Given the description of an element on the screen output the (x, y) to click on. 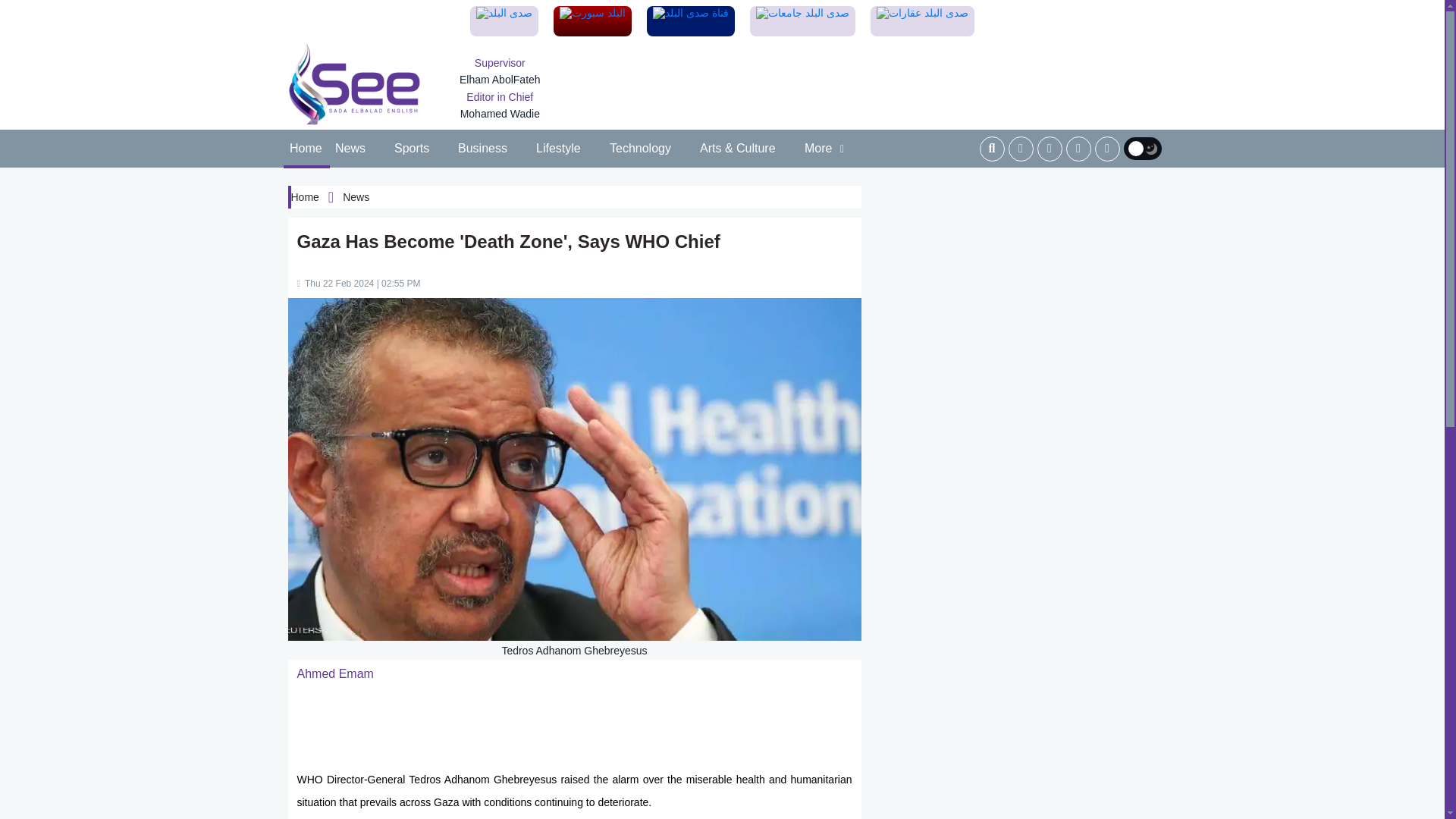
News (350, 148)
 Sada Elbalad (354, 84)
youtube (1106, 148)
Home (306, 148)
Technology (641, 148)
facebook (1021, 148)
Technology (641, 148)
Lifestyle (558, 148)
Lifestyle (558, 148)
Business (483, 148)
